Given the description of an element on the screen output the (x, y) to click on. 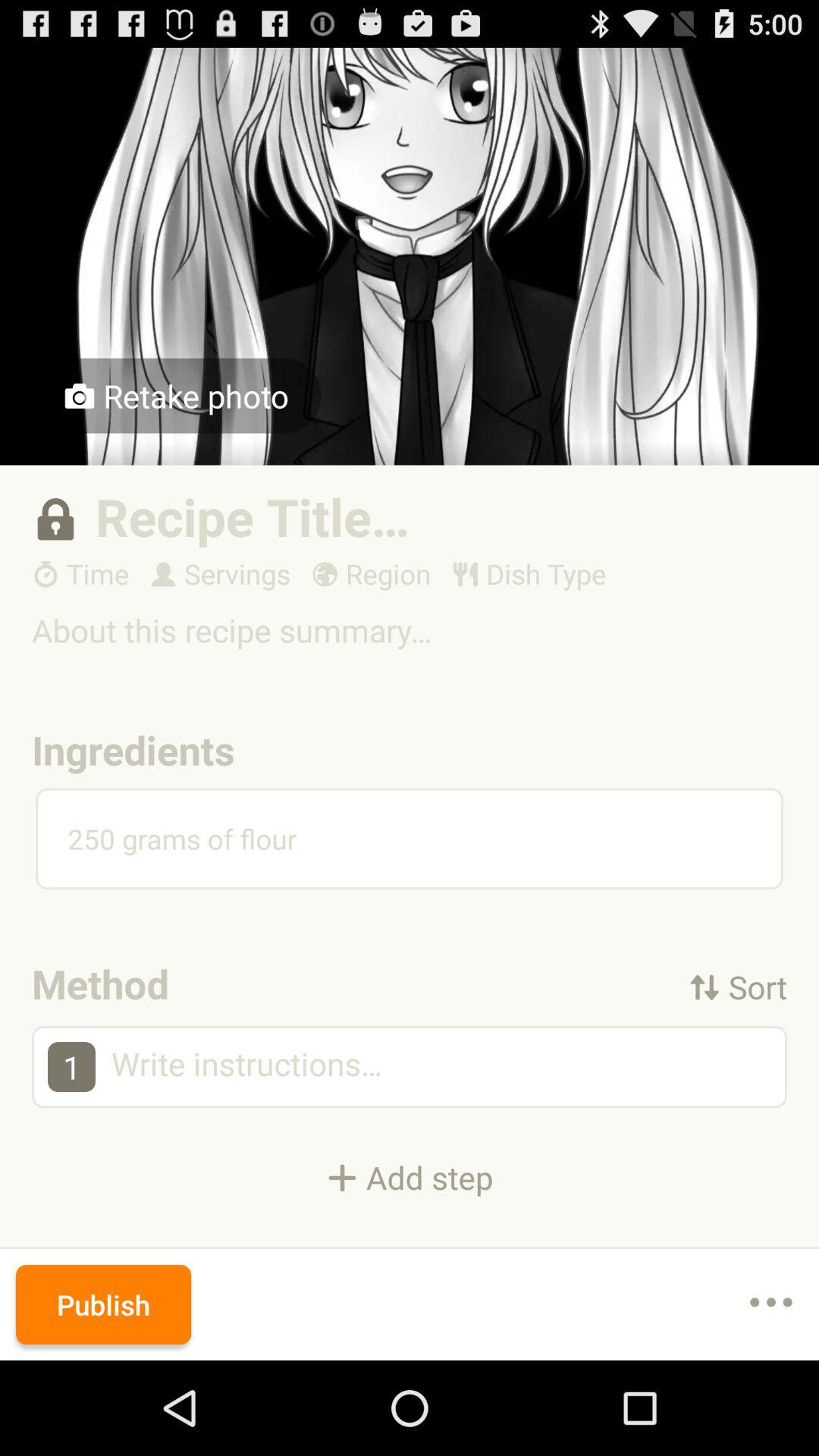
select the icon below the 1 item (409, 1176)
